Given the description of an element on the screen output the (x, y) to click on. 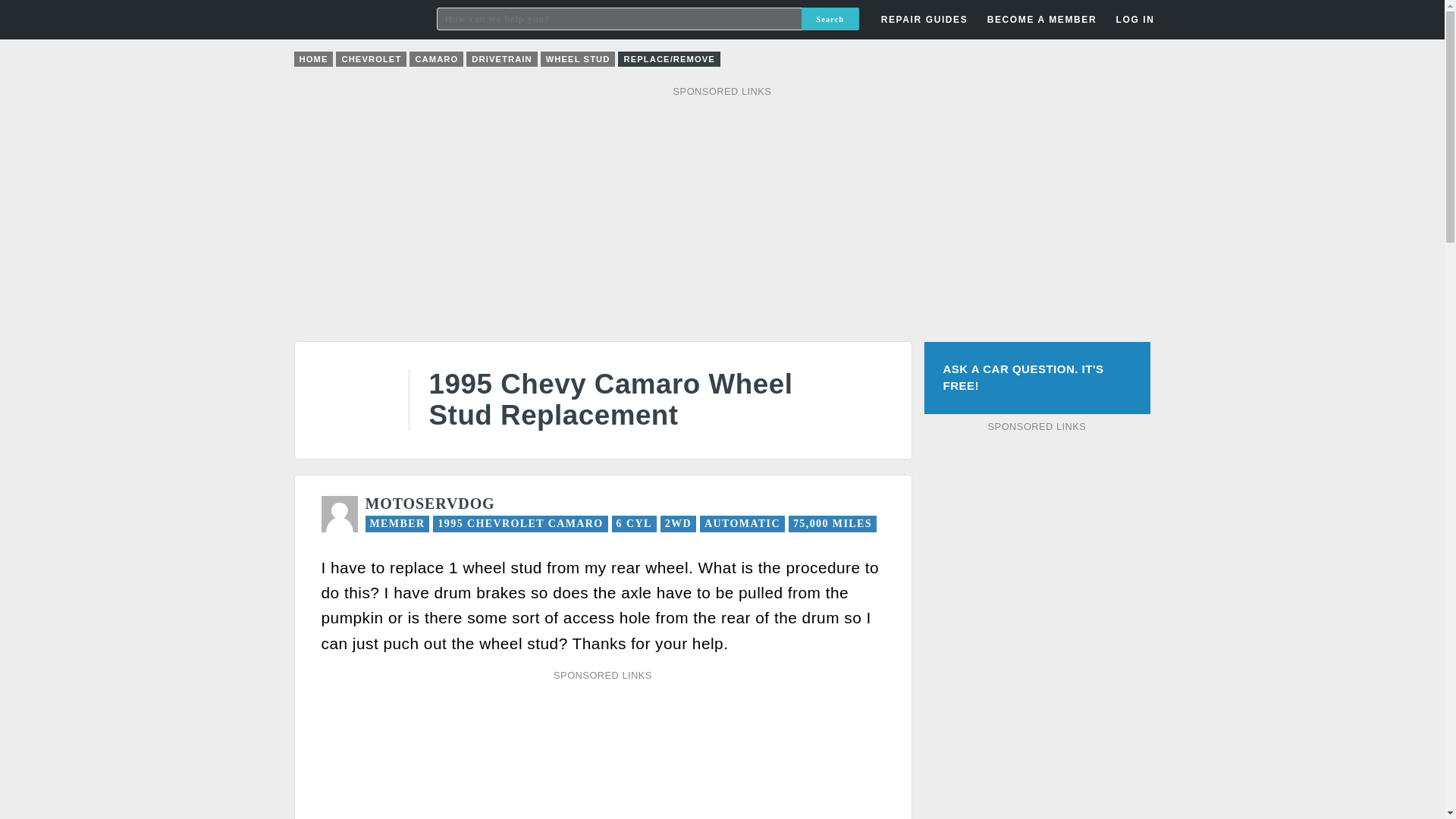
CHEVROLET (371, 58)
Search (830, 18)
LOG IN (1134, 19)
REPAIR GUIDES (924, 19)
LOG IN (1048, 242)
CAMARO (436, 58)
Search (830, 18)
HOME (313, 58)
DRIVETRAIN (501, 58)
YouTube (1058, 57)
